Given the description of an element on the screen output the (x, y) to click on. 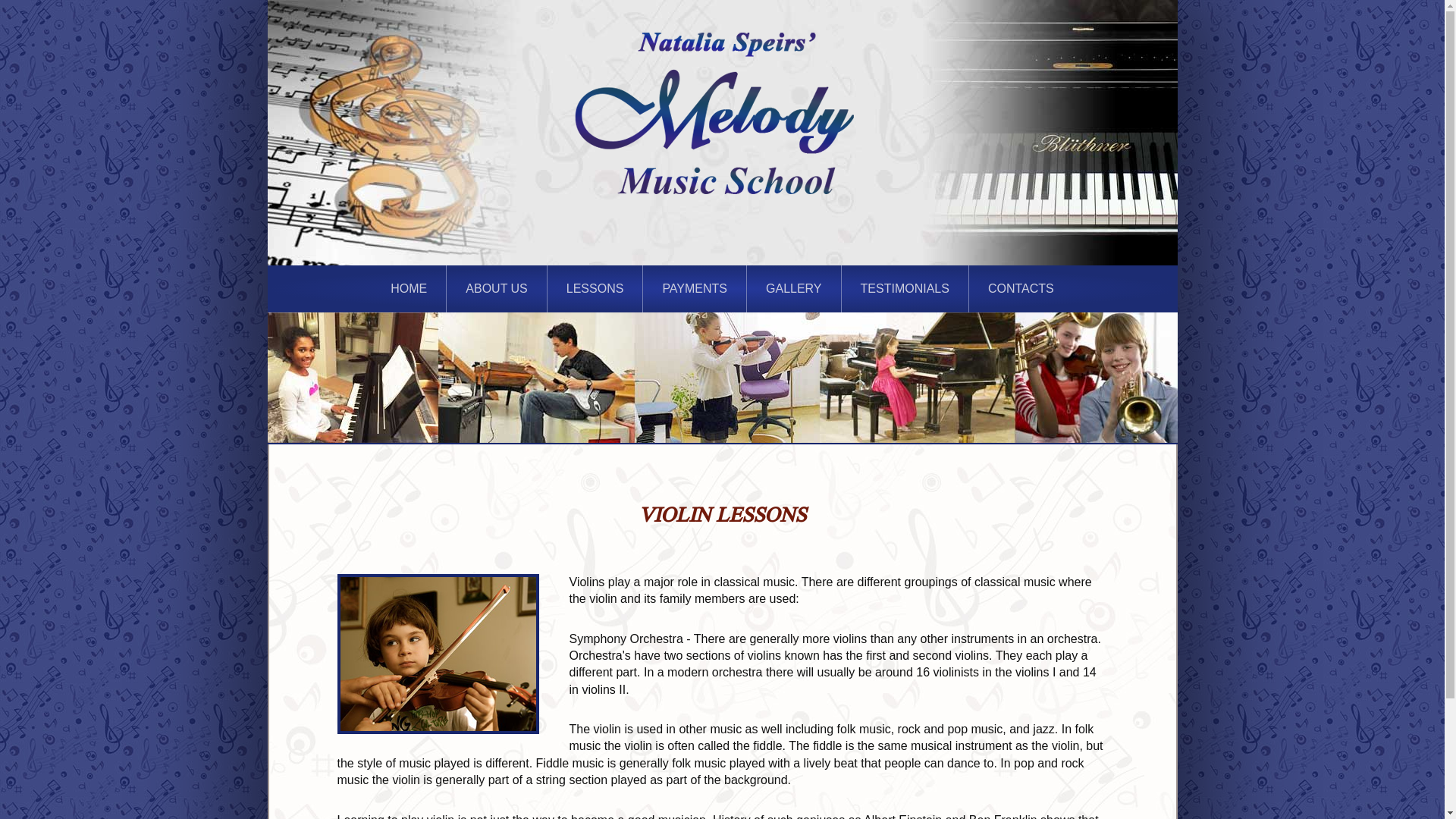
CONTACTS Element type: text (1021, 288)
GALLERY Element type: text (793, 288)
PAYMENTS Element type: text (694, 288)
HOME Element type: text (408, 288)
LESSONS Element type: text (595, 288)
TESTIMONIALS Element type: text (904, 288)
ABOUT US Element type: text (496, 288)
